Given the description of an element on the screen output the (x, y) to click on. 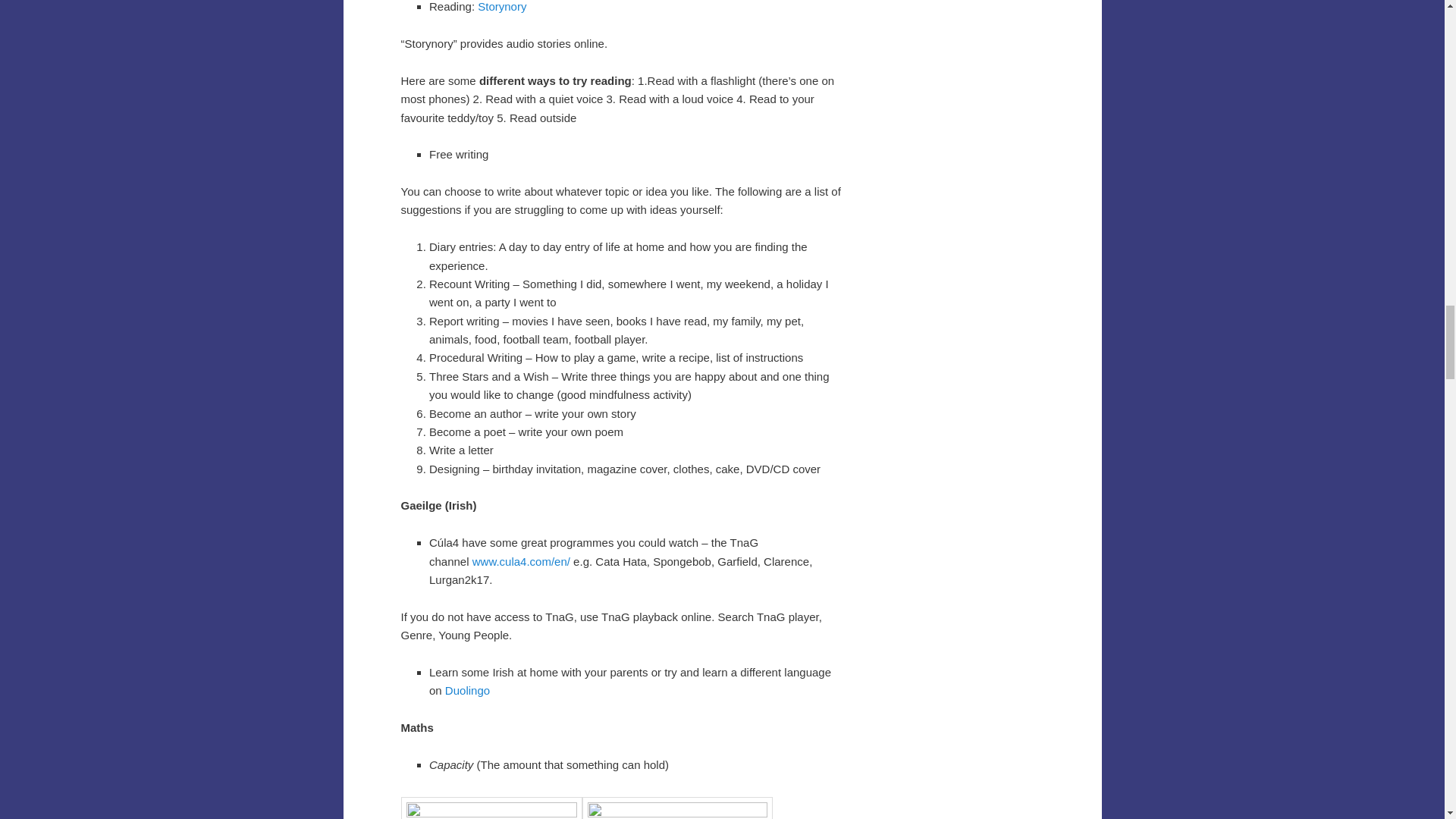
Duolingo (467, 689)
Storynory (499, 6)
